Given the description of an element on the screen output the (x, y) to click on. 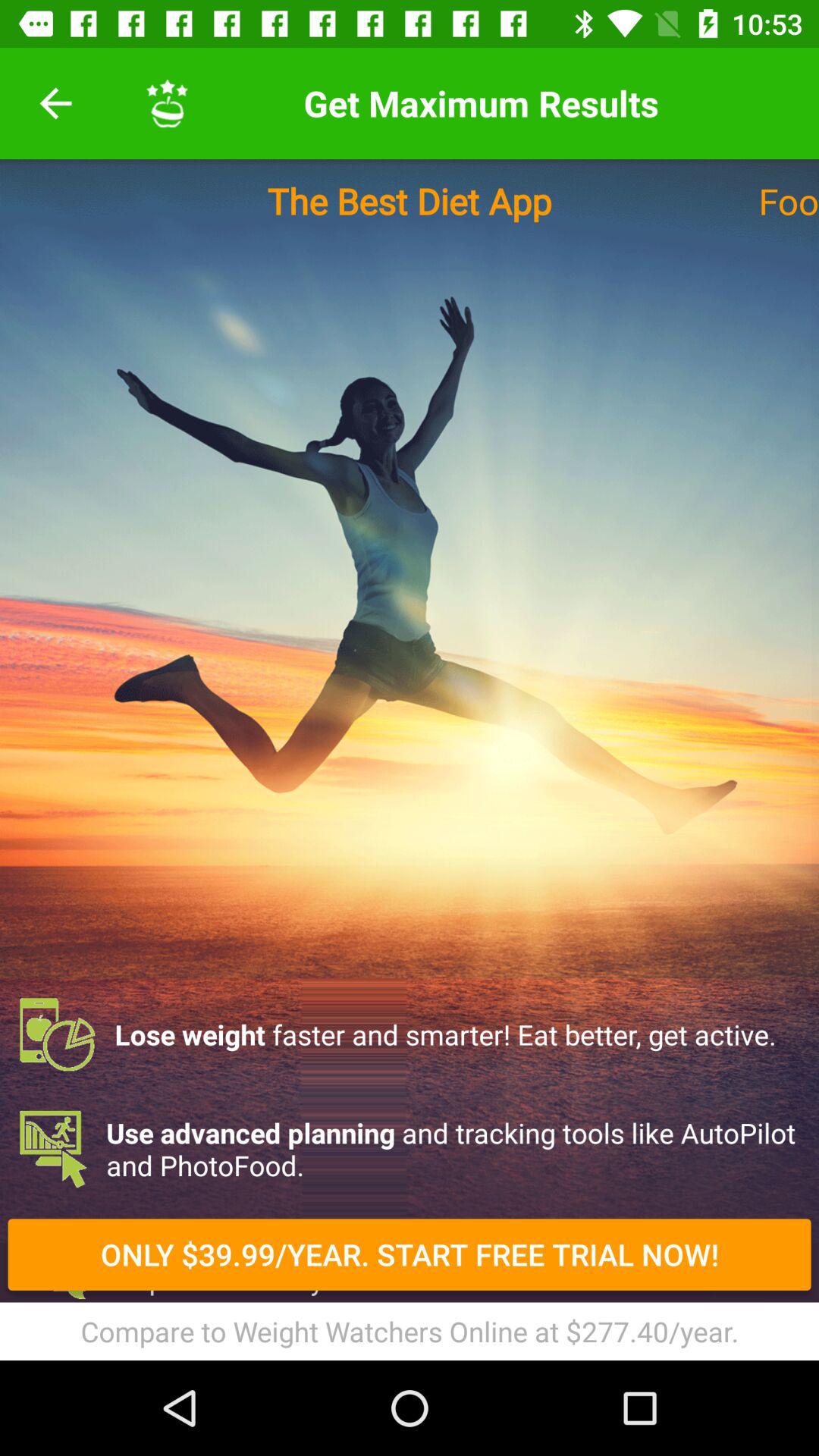
choose the icon above link your diary item (409, 1262)
